Given the description of an element on the screen output the (x, y) to click on. 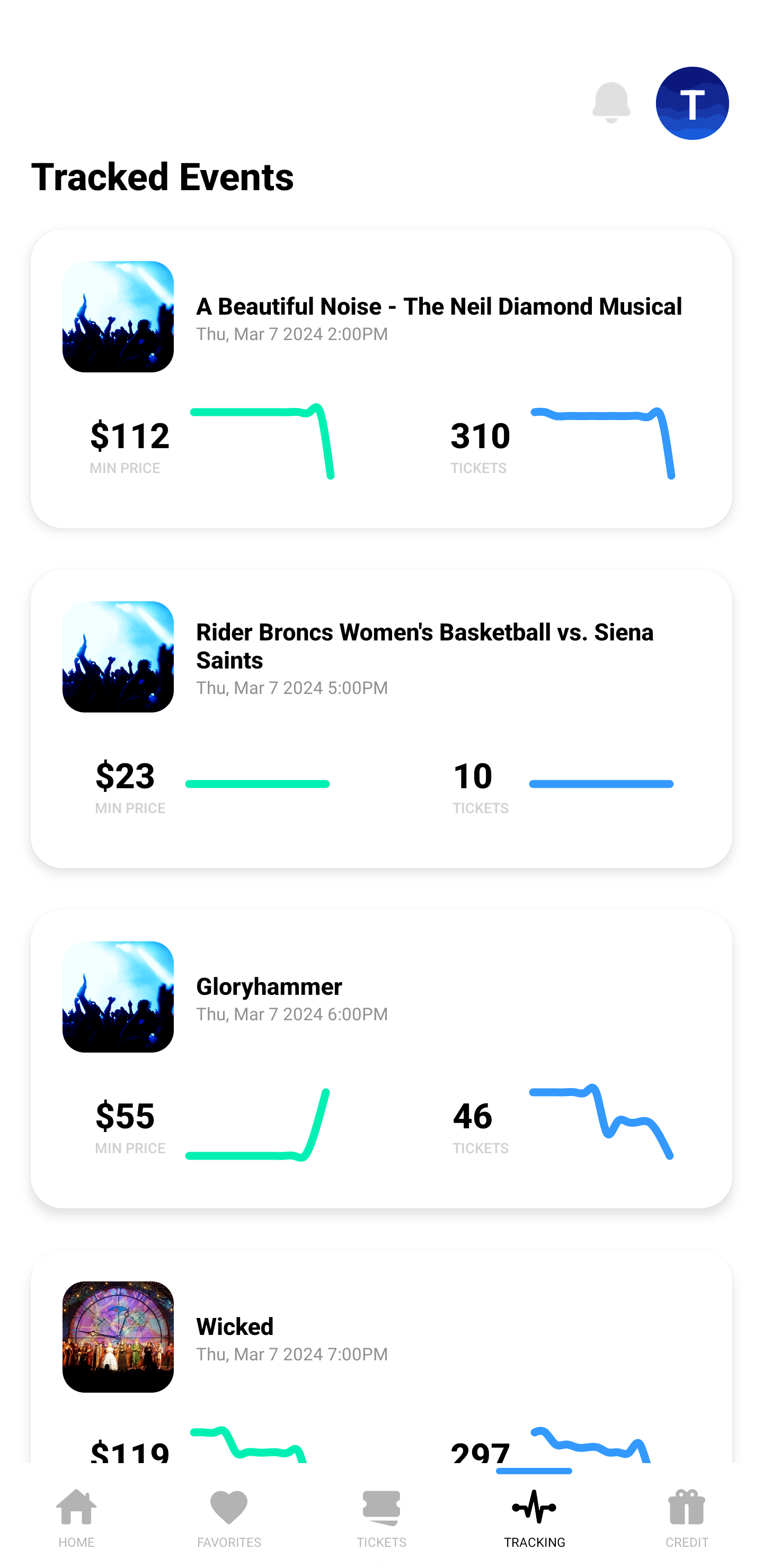
T (692, 103)
HOME (76, 1515)
FAVORITES (228, 1515)
TICKETS (381, 1515)
TRACKING (533, 1515)
CREDIT (686, 1515)
